Given the description of an element on the screen output the (x, y) to click on. 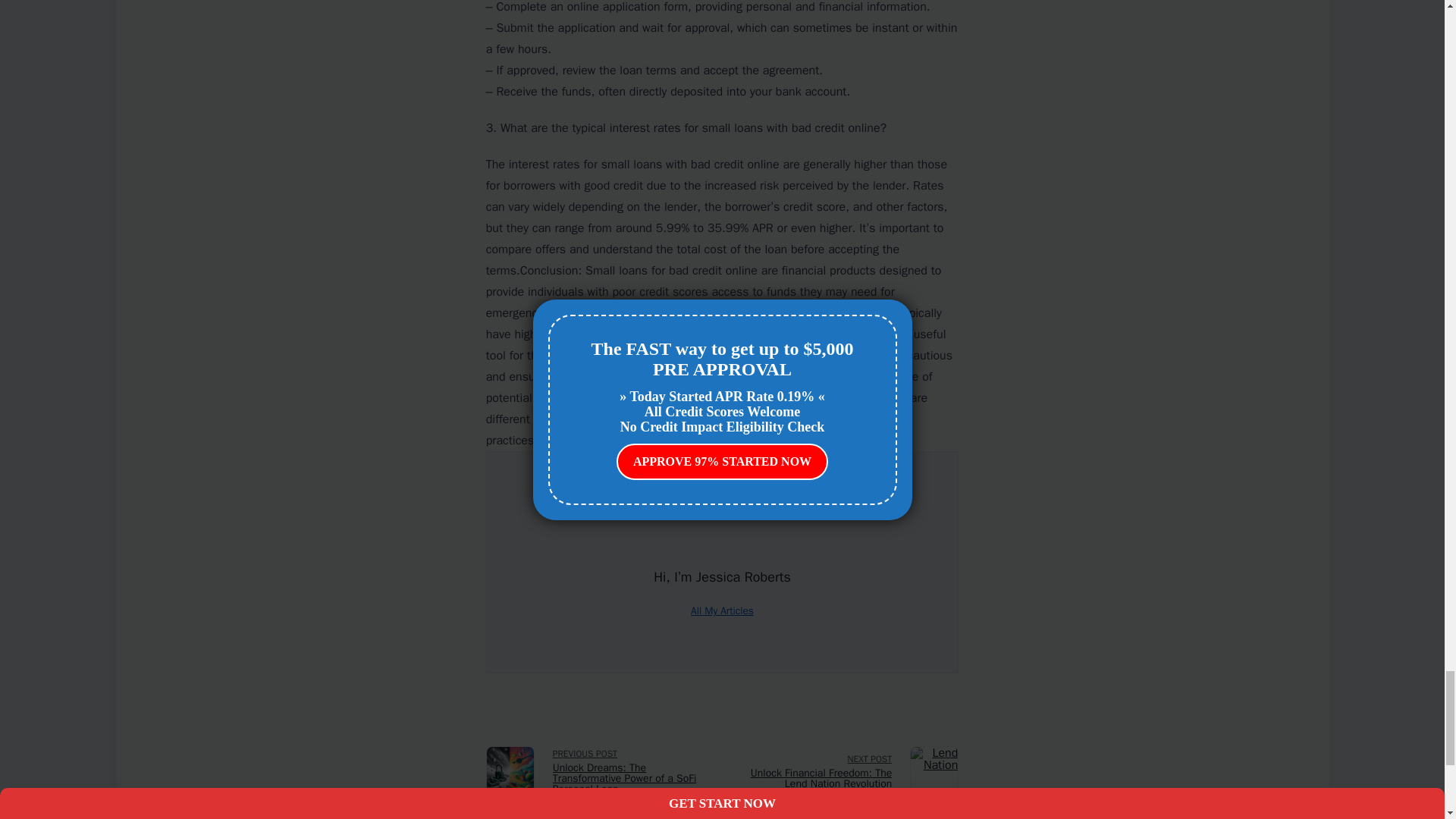
All My Articles (722, 610)
